Given the description of an element on the screen output the (x, y) to click on. 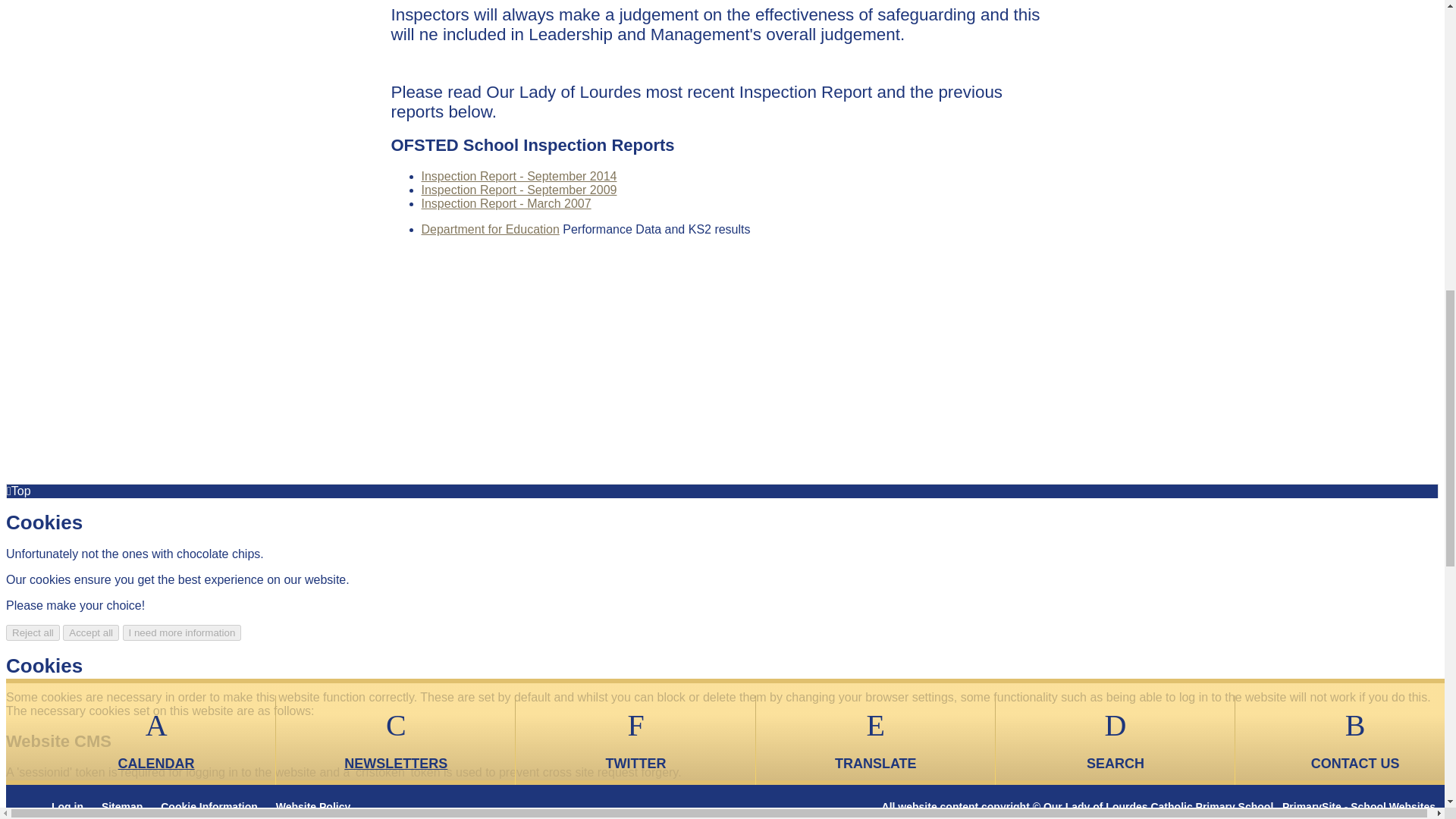
View tweet on twitter (609, 9)
